Given the description of an element on the screen output the (x, y) to click on. 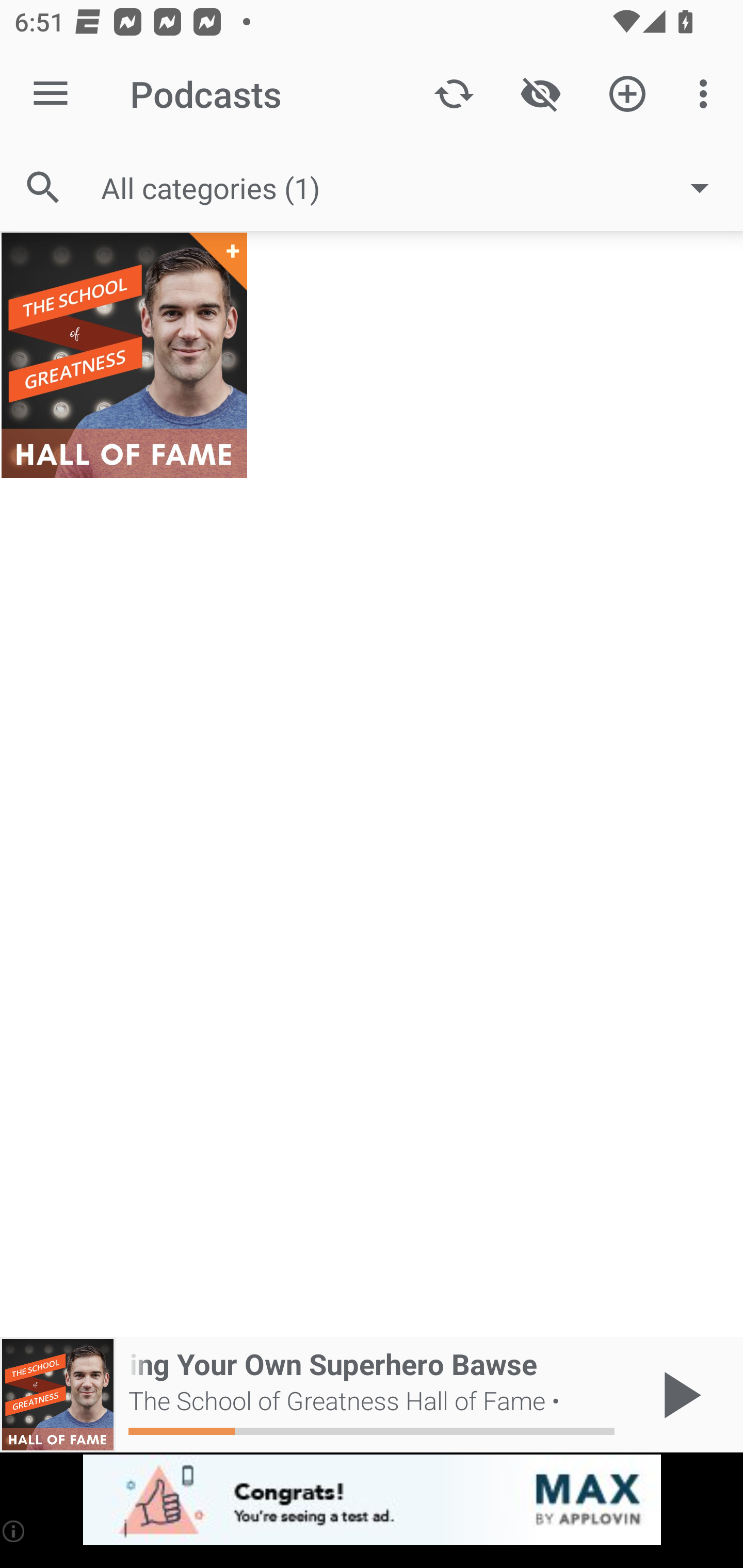
Open navigation sidebar (50, 93)
Update (453, 93)
Show / Hide played content (540, 93)
Add new Podcast (626, 93)
More options (706, 93)
Search (43, 187)
All categories (1) (414, 188)
The School of Greatness Hall of Fame + (124, 355)
Play / Pause (677, 1394)
app-monetization (371, 1500)
(i) (14, 1531)
